Given the description of an element on the screen output the (x, y) to click on. 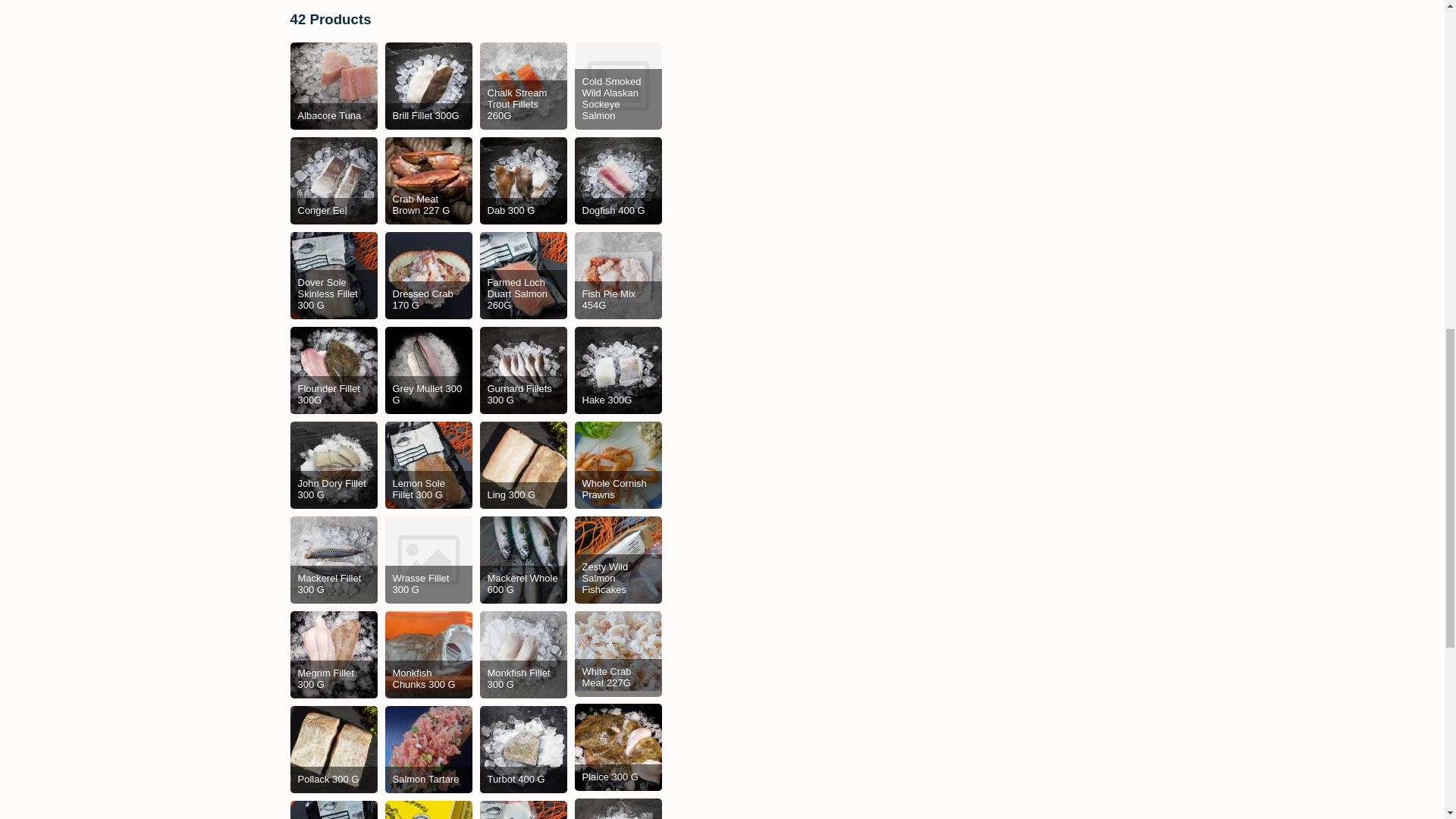
Mackerel Fillet 300 G (333, 559)
Dover Sole Skinless Fillet 300 G (333, 275)
Ling 300 G (522, 464)
Flounder Fillet 300G (333, 370)
Albacore Tuna (333, 85)
Brill Fillet 300G (428, 85)
Lemon Sole Fillet 300 G (428, 464)
Dressed Crab 170 G (428, 275)
Dogfish 400 G (618, 180)
John Dory Fillet 300 G (333, 464)
Conger Eel (333, 180)
Dab 300 G (522, 180)
Crab Meat Brown 227 G (428, 180)
Hake 300G (618, 370)
Gurnard Fillets 300 G (522, 370)
